Given the description of an element on the screen output the (x, y) to click on. 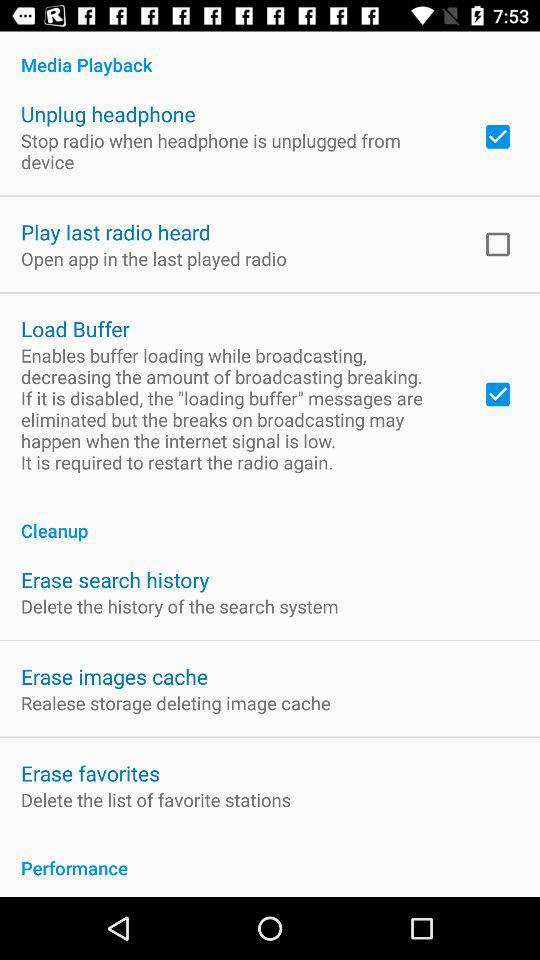
scroll until open app in item (153, 258)
